Given the description of an element on the screen output the (x, y) to click on. 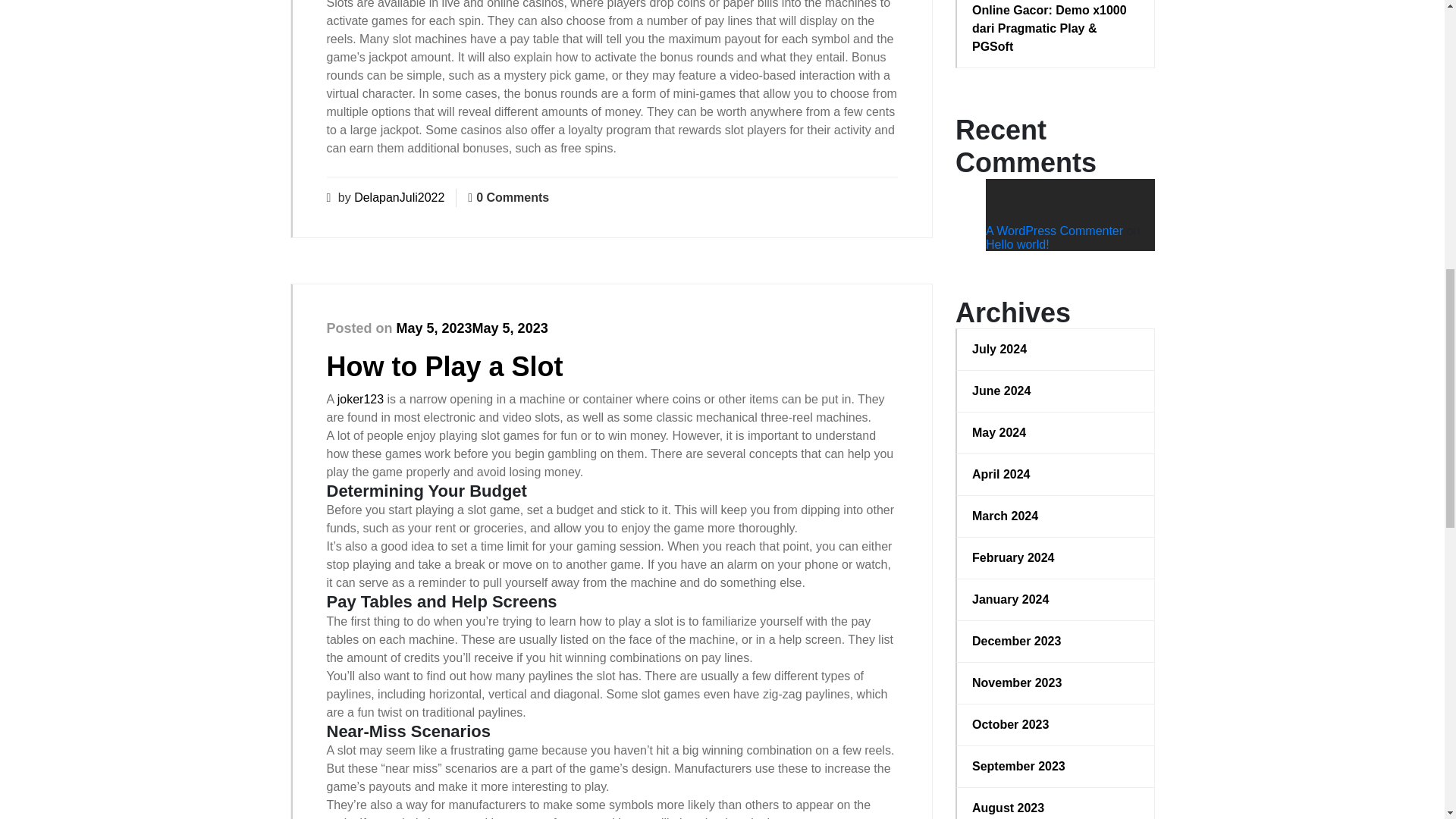
April 2024 (1055, 475)
September 2023 (1055, 766)
July 2024 (1055, 349)
joker123 (360, 399)
March 2024 (1055, 515)
May 2024 (1055, 433)
November 2023 (1055, 683)
October 2023 (1055, 724)
June 2024 (1055, 391)
January 2024 (1055, 599)
A WordPress Commenter (1053, 230)
May 5, 2023May 5, 2023 (472, 328)
DelapanJuli2022 (398, 196)
February 2024 (1055, 557)
How to Play a Slot (444, 366)
